Given the description of an element on the screen output the (x, y) to click on. 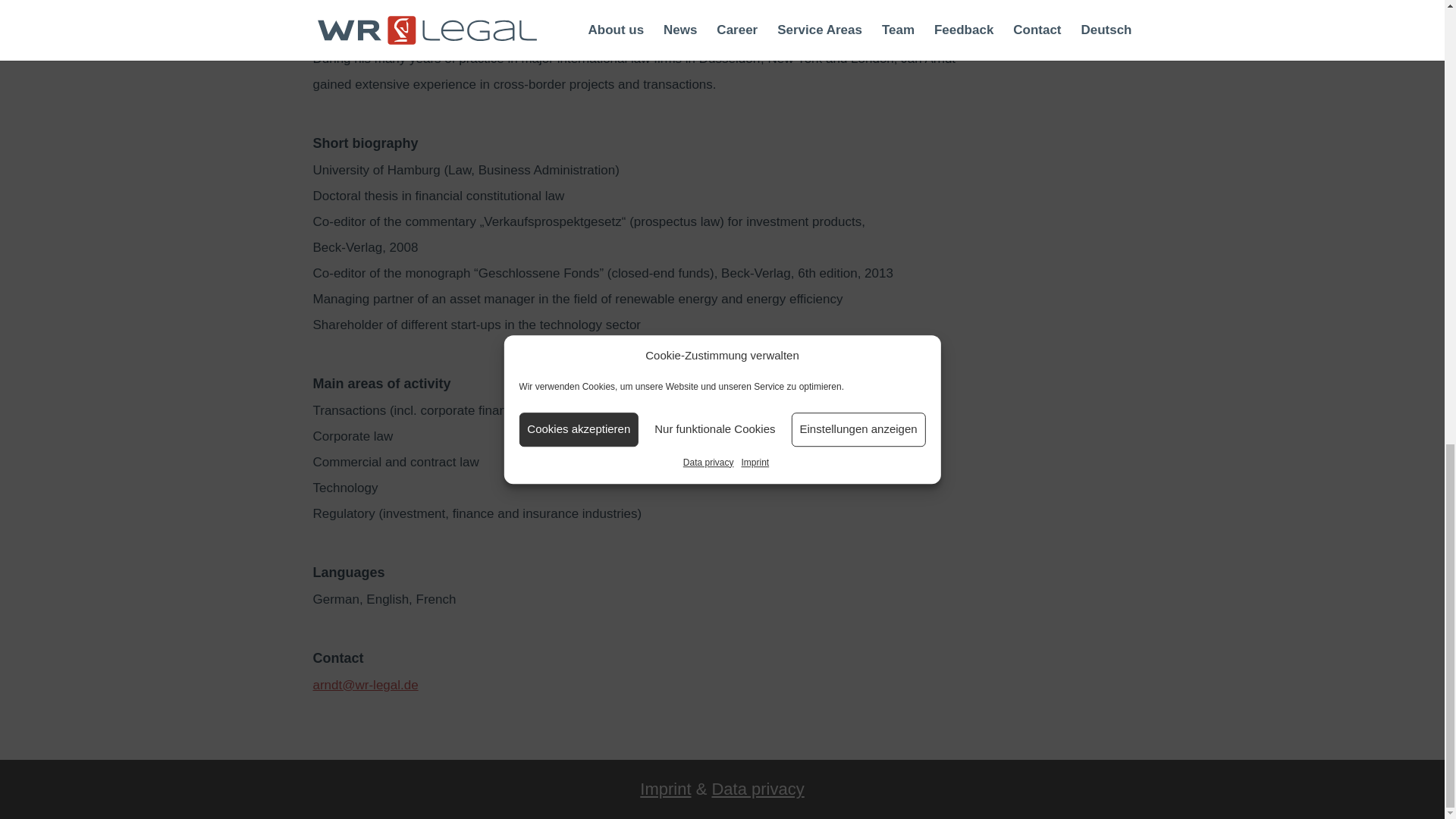
Data privacy (757, 788)
Imprint (665, 788)
